Given the description of an element on the screen output the (x, y) to click on. 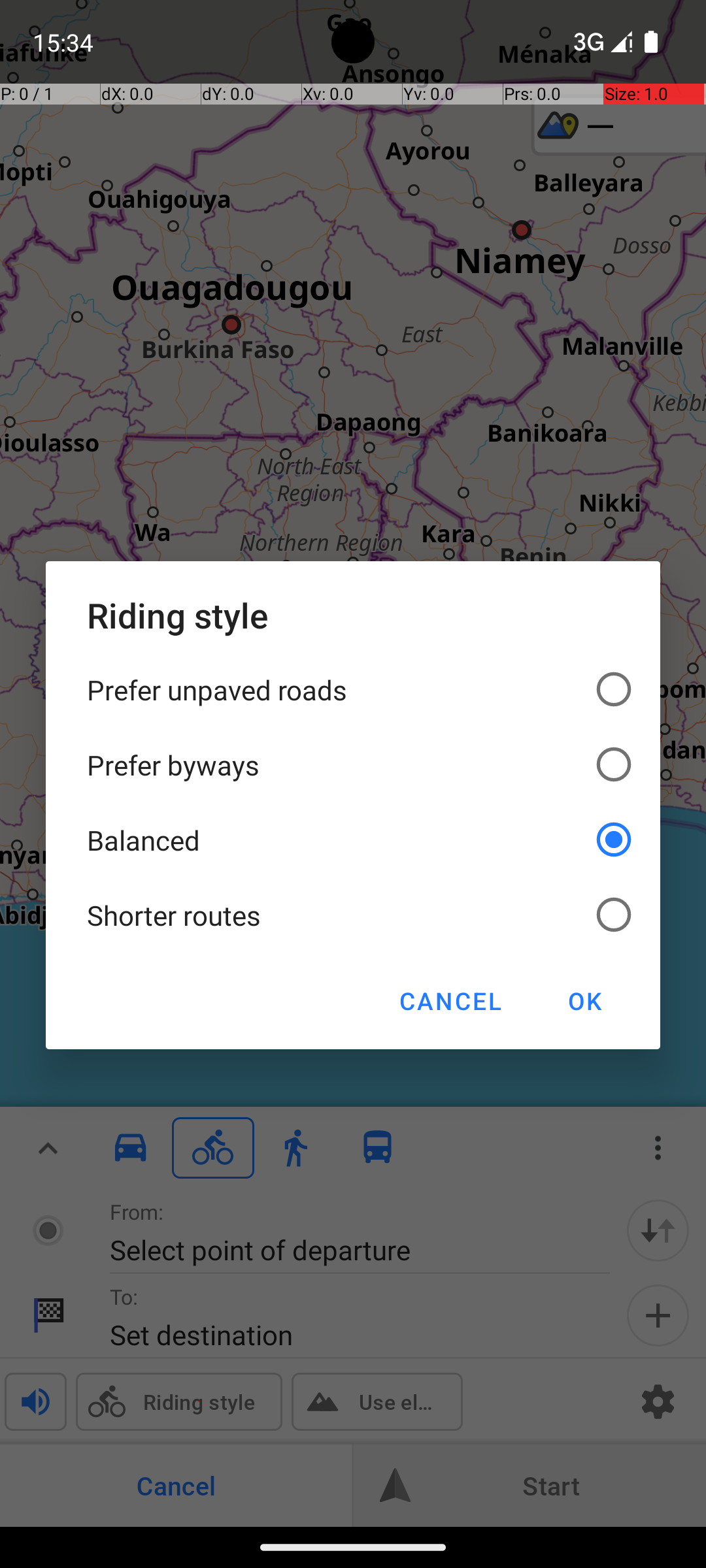
Riding style Element type: android.widget.TextView (352, 614)
Prefer unpaved roads Element type: android.widget.CheckedTextView (352, 689)
Prefer byways Element type: android.widget.CheckedTextView (352, 764)
Balanced Element type: android.widget.CheckedTextView (352, 839)
Shorter routes Element type: android.widget.CheckedTextView (352, 914)
